Given the description of an element on the screen output the (x, y) to click on. 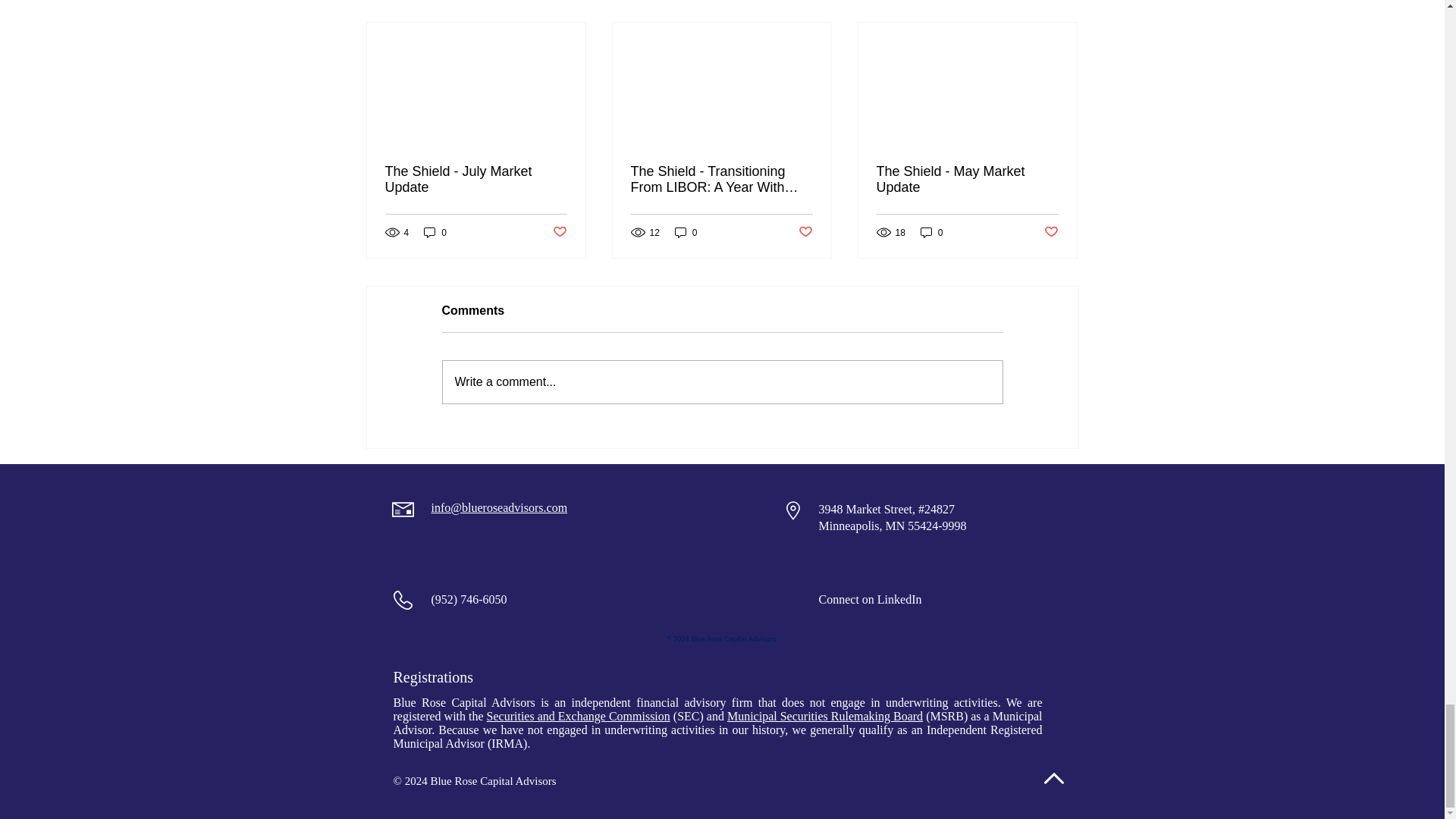
The Shield - July Market Update (476, 179)
Post not marked as liked (558, 232)
See All (1061, 3)
0 (435, 232)
